Given the description of an element on the screen output the (x, y) to click on. 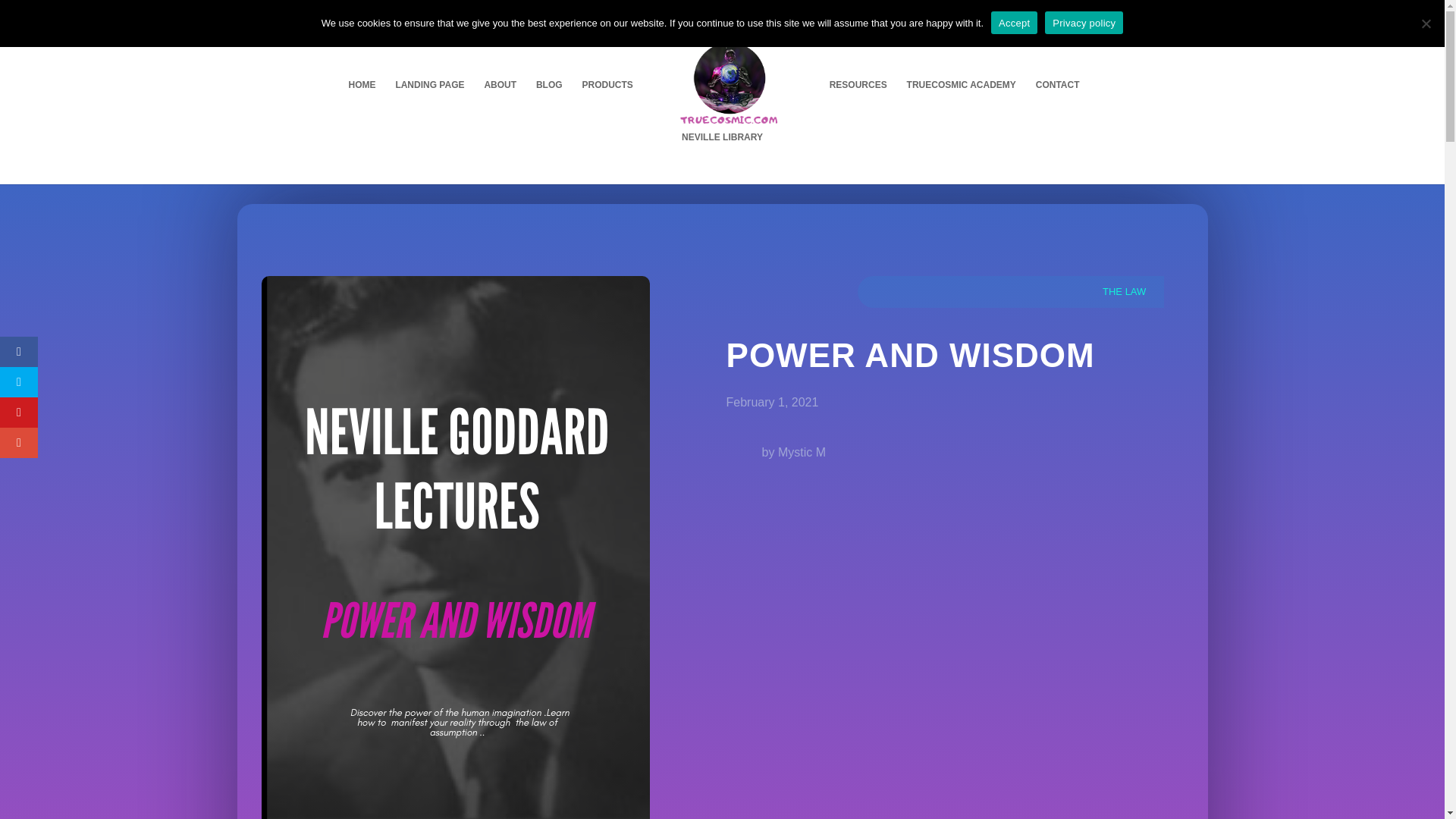
TRUECOSMIC ACADEMY (961, 105)
THE LAW (1123, 291)
0 Items (1107, 10)
NEVILLE LIBRARY (721, 157)
PRODUCTS (607, 105)
LANDING PAGE (429, 105)
No (1425, 23)
ABOUT (499, 105)
RESOURCES (857, 105)
BLOG (548, 105)
CONTACT (1057, 105)
HOME (361, 105)
